Given the description of an element on the screen output the (x, y) to click on. 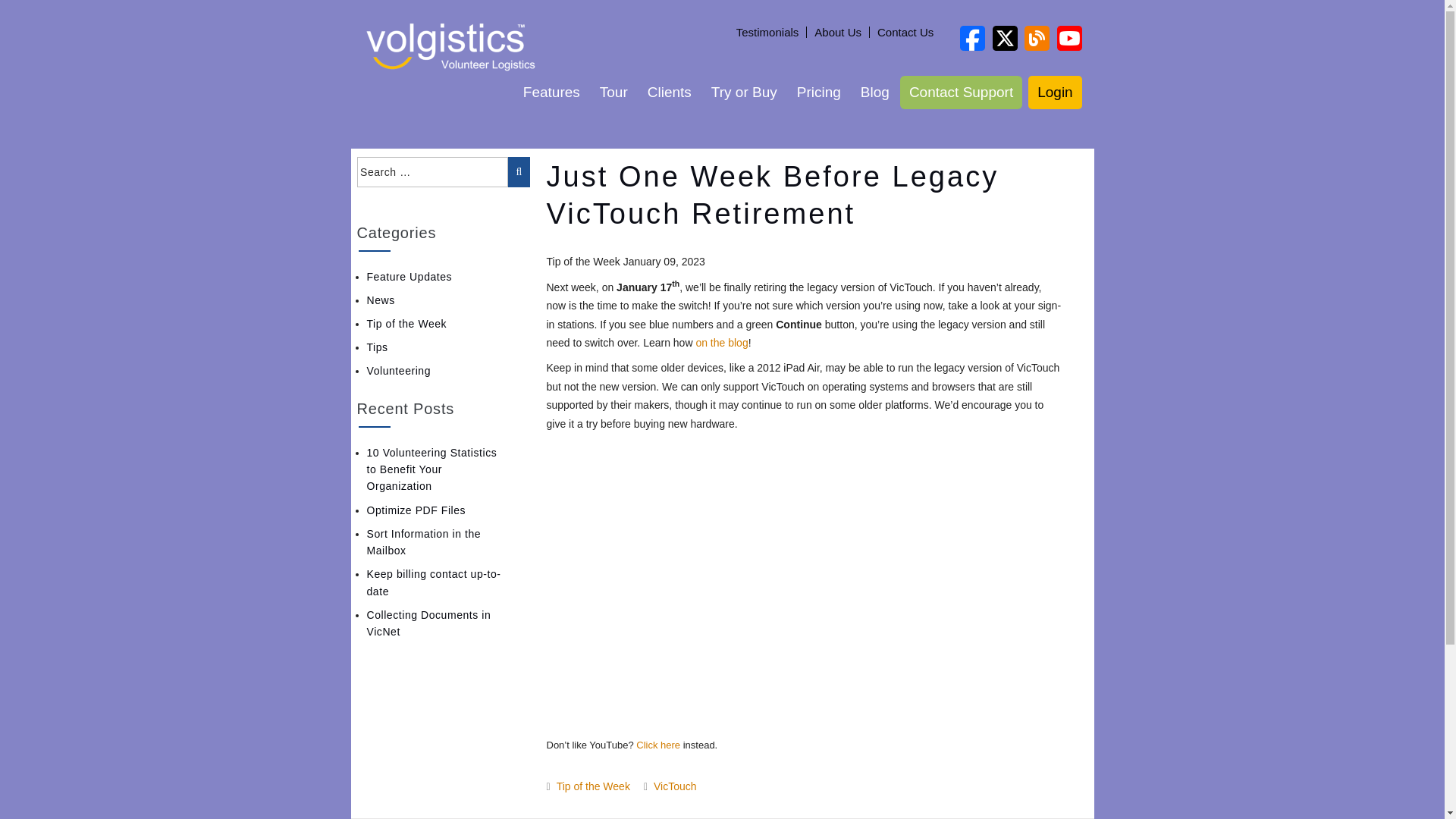
Features (551, 92)
Tour (614, 92)
Clients (669, 92)
